Given the description of an element on the screen output the (x, y) to click on. 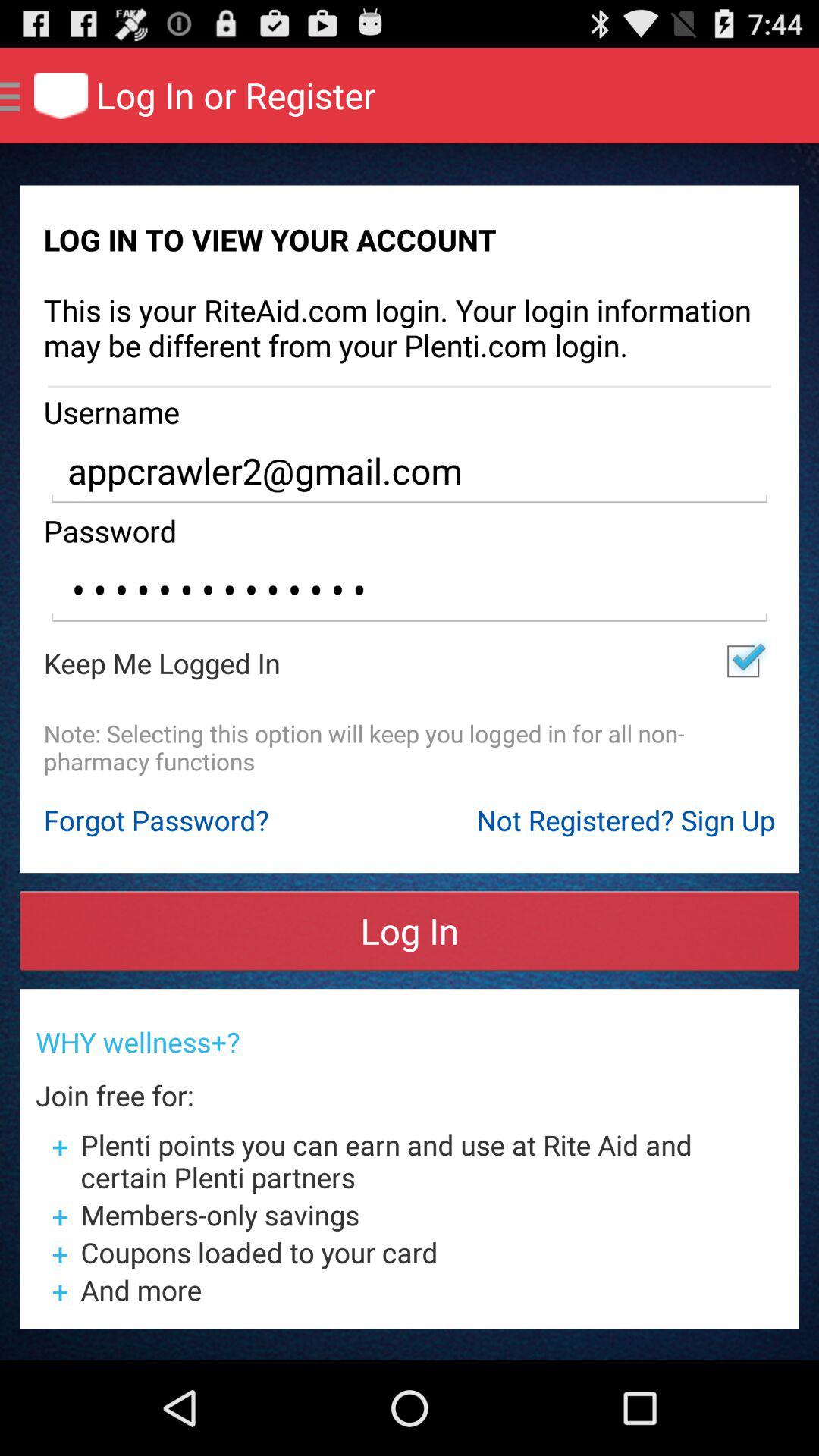
choose item to the right of the keep me logged (743, 661)
